Given the description of an element on the screen output the (x, y) to click on. 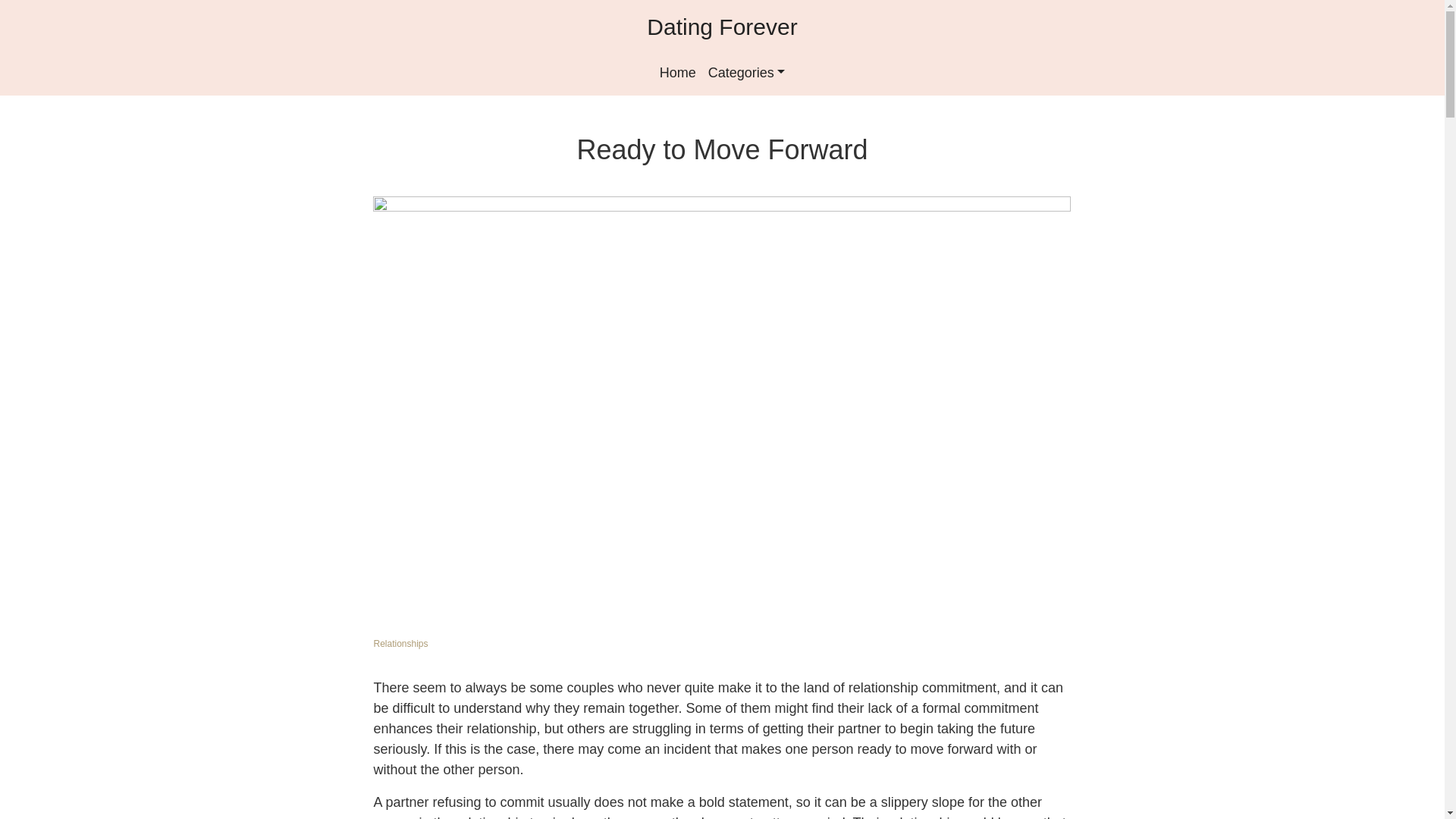
Home (677, 72)
Relationships (400, 643)
Dating Forever (721, 26)
Categories (746, 72)
